Given the description of an element on the screen output the (x, y) to click on. 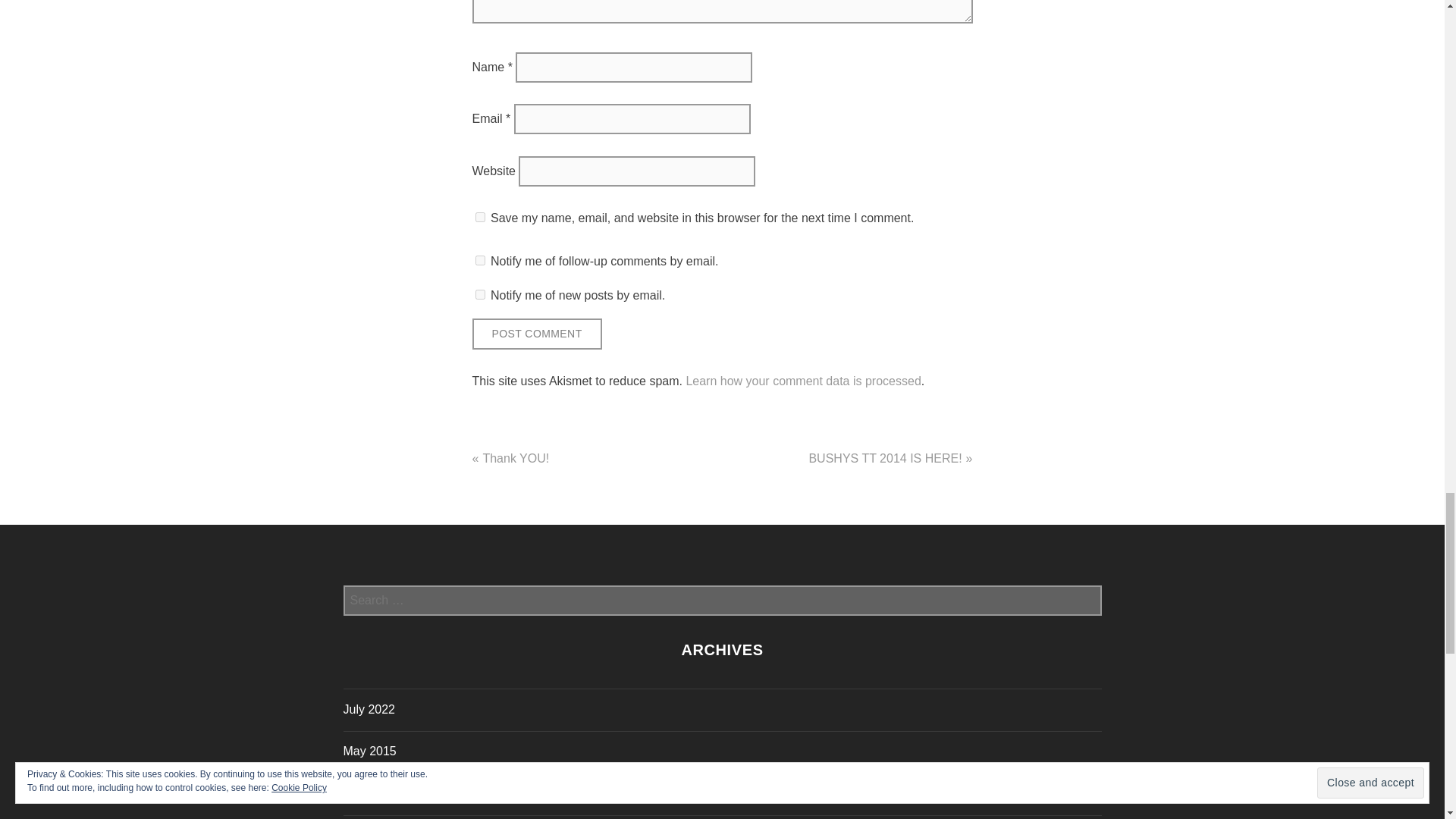
subscribe (479, 294)
Post Comment (536, 333)
yes (479, 216)
subscribe (479, 260)
